Given the description of an element on the screen output the (x, y) to click on. 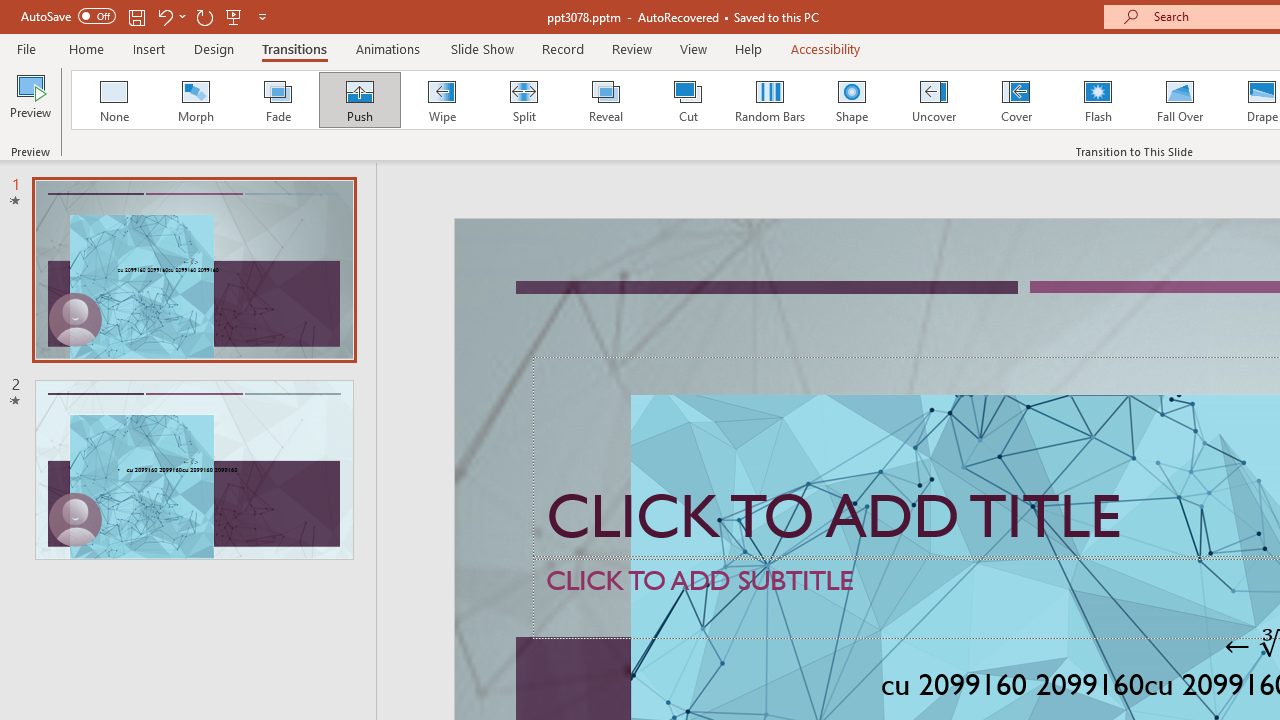
Design (214, 48)
Review (631, 48)
Fall Over (1180, 100)
Home (86, 48)
From Beginning (234, 15)
Animations (388, 48)
Reveal (605, 100)
Fade (277, 100)
Flash (1098, 100)
